Given the description of an element on the screen output the (x, y) to click on. 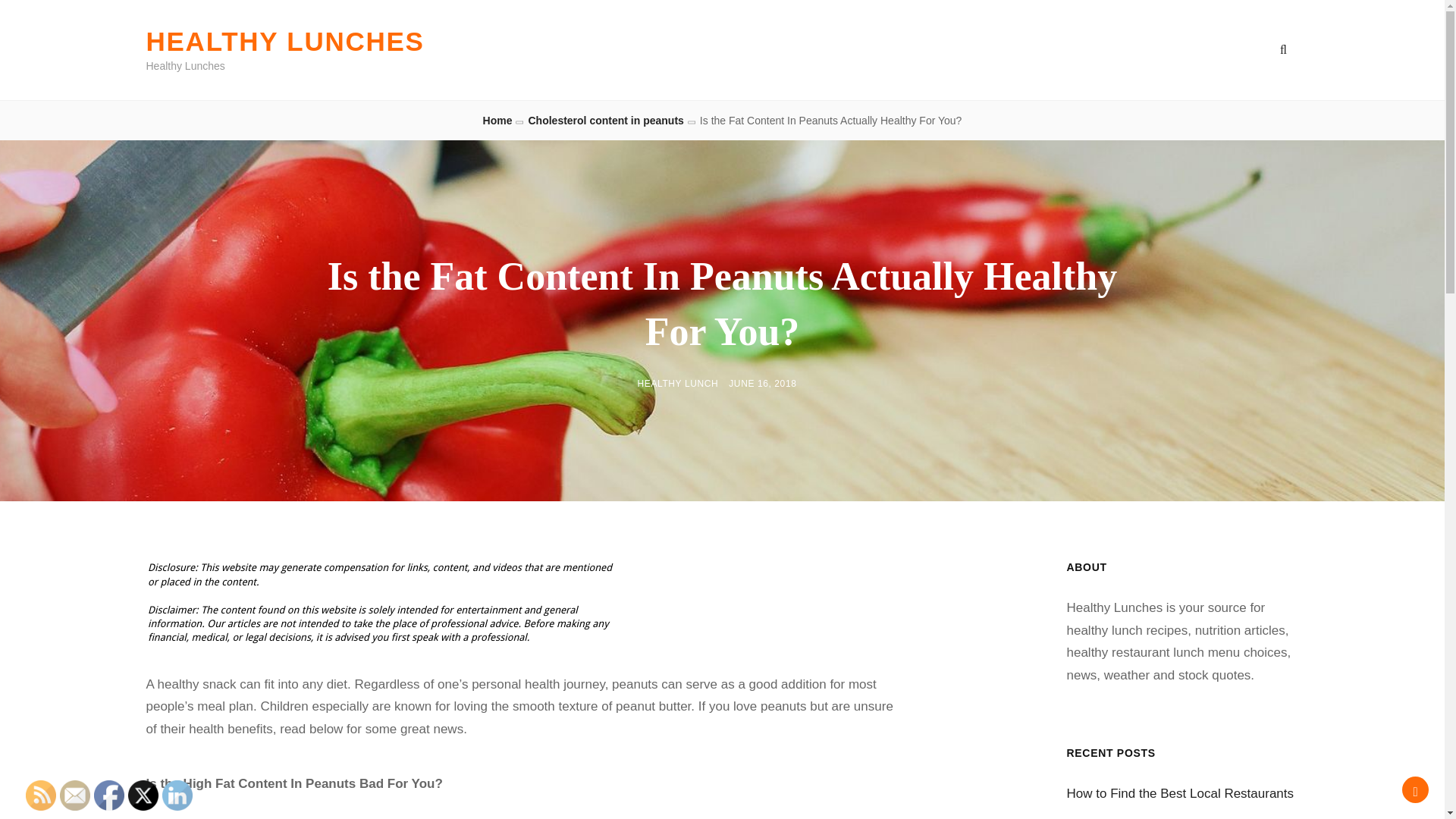
Follow by Email (74, 795)
Search (1283, 50)
Facebook (108, 795)
RSS (41, 795)
Home (497, 120)
JUNE 16, 2018 (762, 383)
HEALTHY LUNCH (678, 383)
Scroll Up (1415, 789)
Cholesterol content in peanuts (604, 120)
How to Find the Best Local Restaurants (1179, 793)
HEALTHY LUNCHES (284, 41)
